Given the description of an element on the screen output the (x, y) to click on. 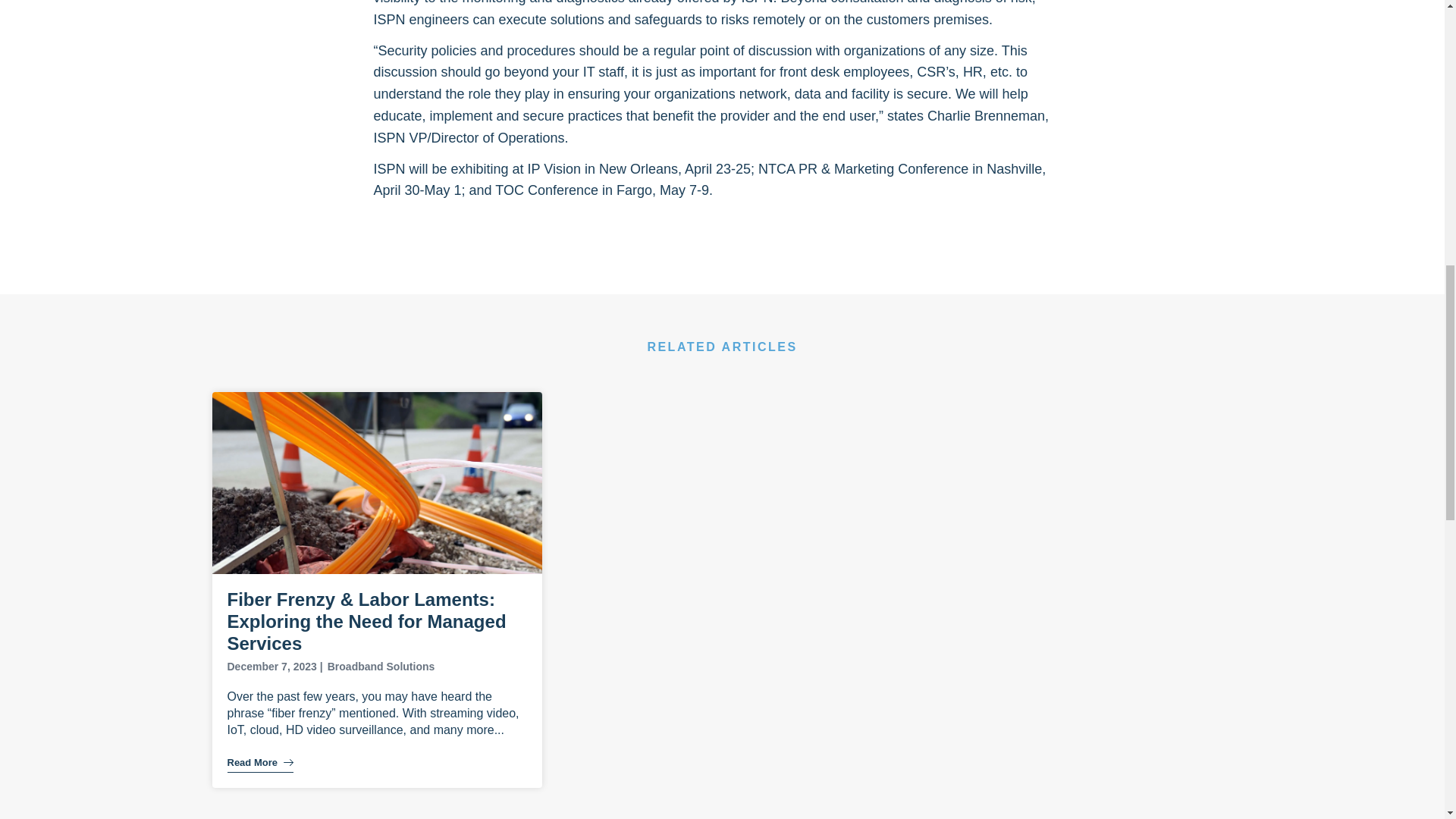
Read More (260, 765)
December 7, 2023 (272, 665)
Broadband Solutions (381, 666)
